Given the description of an element on the screen output the (x, y) to click on. 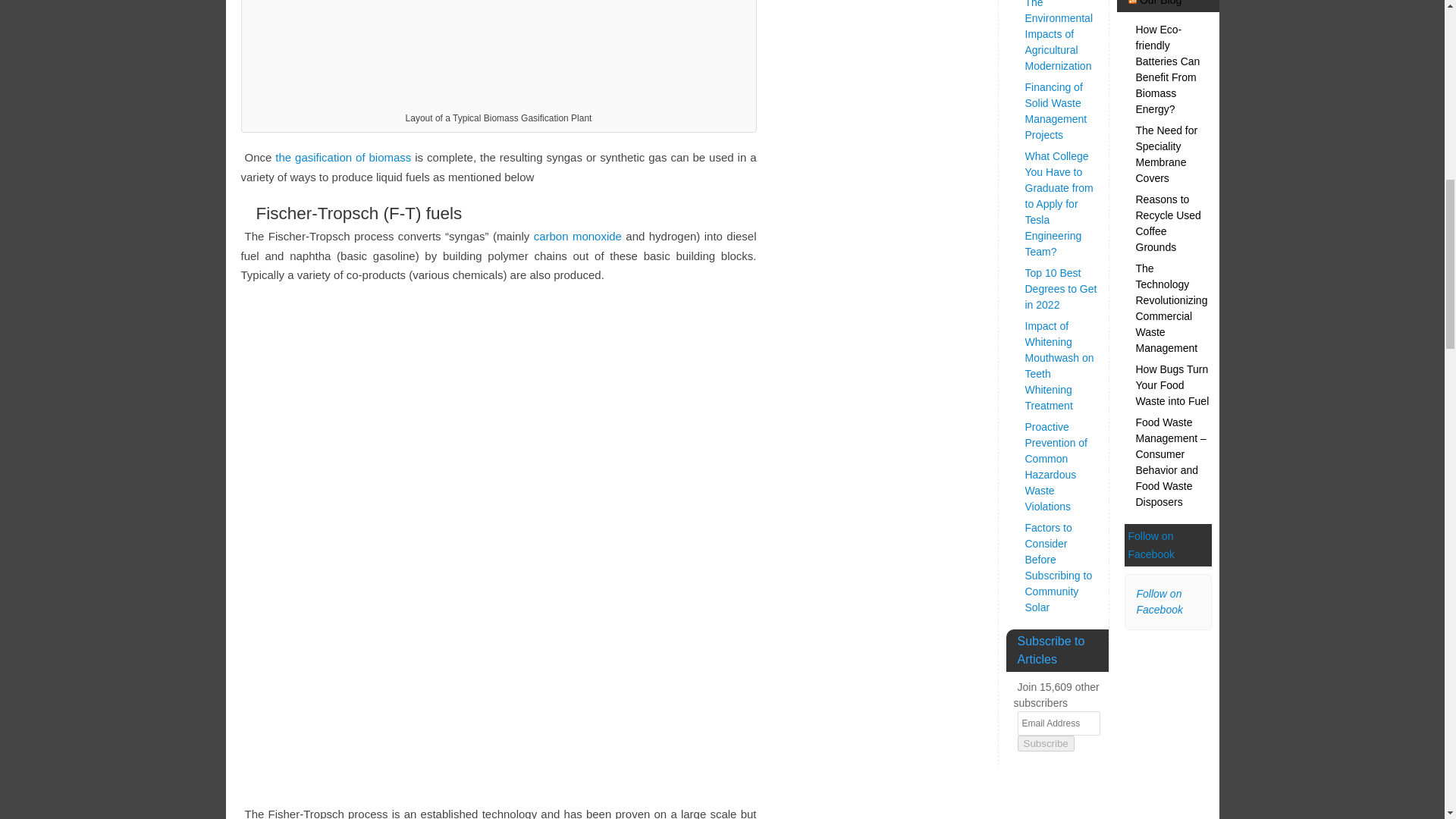
the gasification of biomass (342, 156)
carbon monoxide (577, 236)
